Given the description of an element on the screen output the (x, y) to click on. 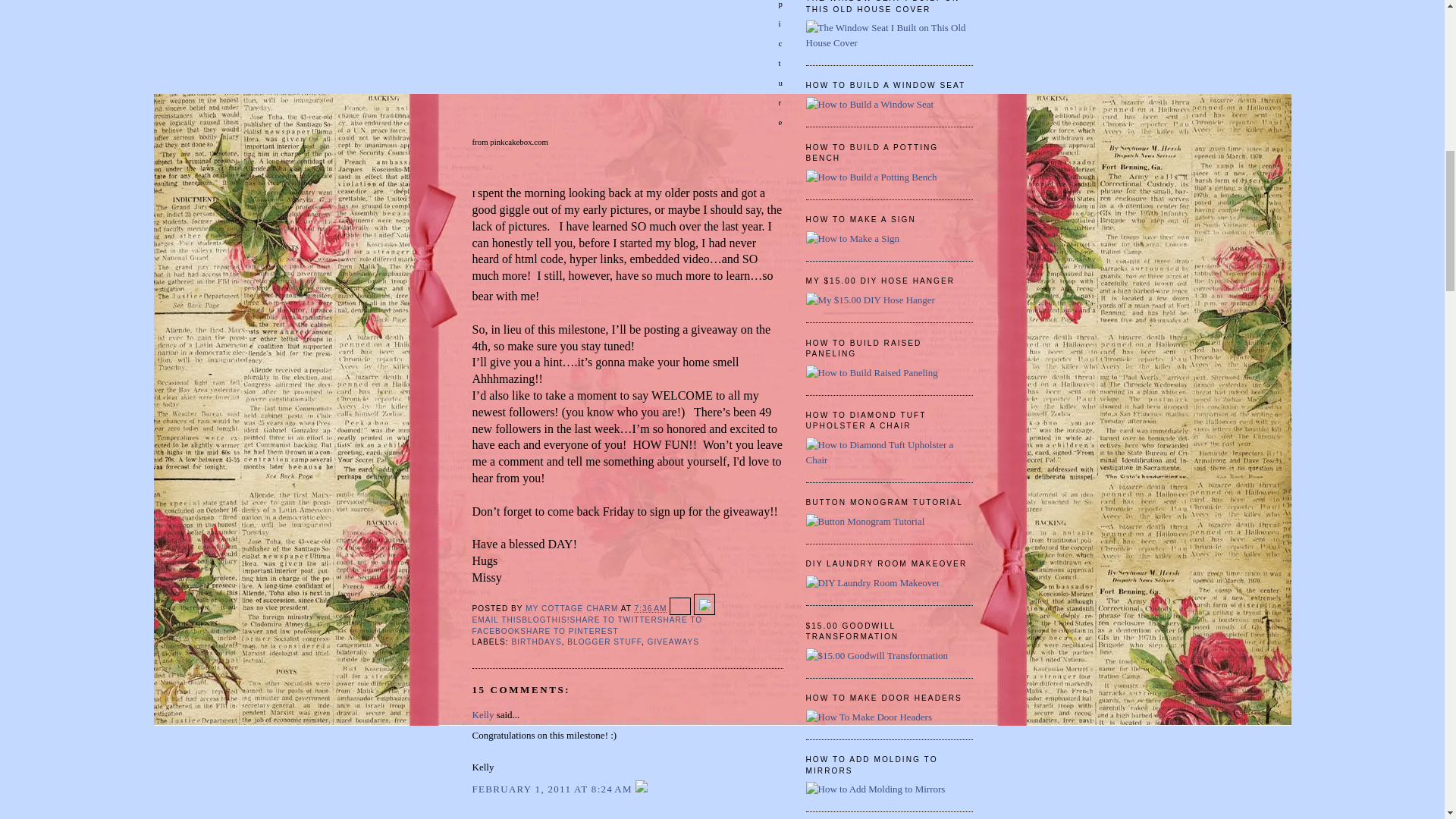
permanent link (650, 608)
GIVEAWAYS (672, 642)
SHARE TO FACEBOOK (586, 624)
Share to Facebook (586, 624)
BLOGGER STUFF (604, 642)
EMAIL THIS (496, 619)
Email This (496, 619)
Edit Post (704, 608)
Delete Comment (640, 788)
Email Post (681, 608)
Crystal Rose Cottage (513, 818)
Share to Pinterest (568, 631)
comment permalink (552, 788)
MY COTTAGE CHARM (572, 608)
BIRTHDAYS (537, 642)
